Given the description of an element on the screen output the (x, y) to click on. 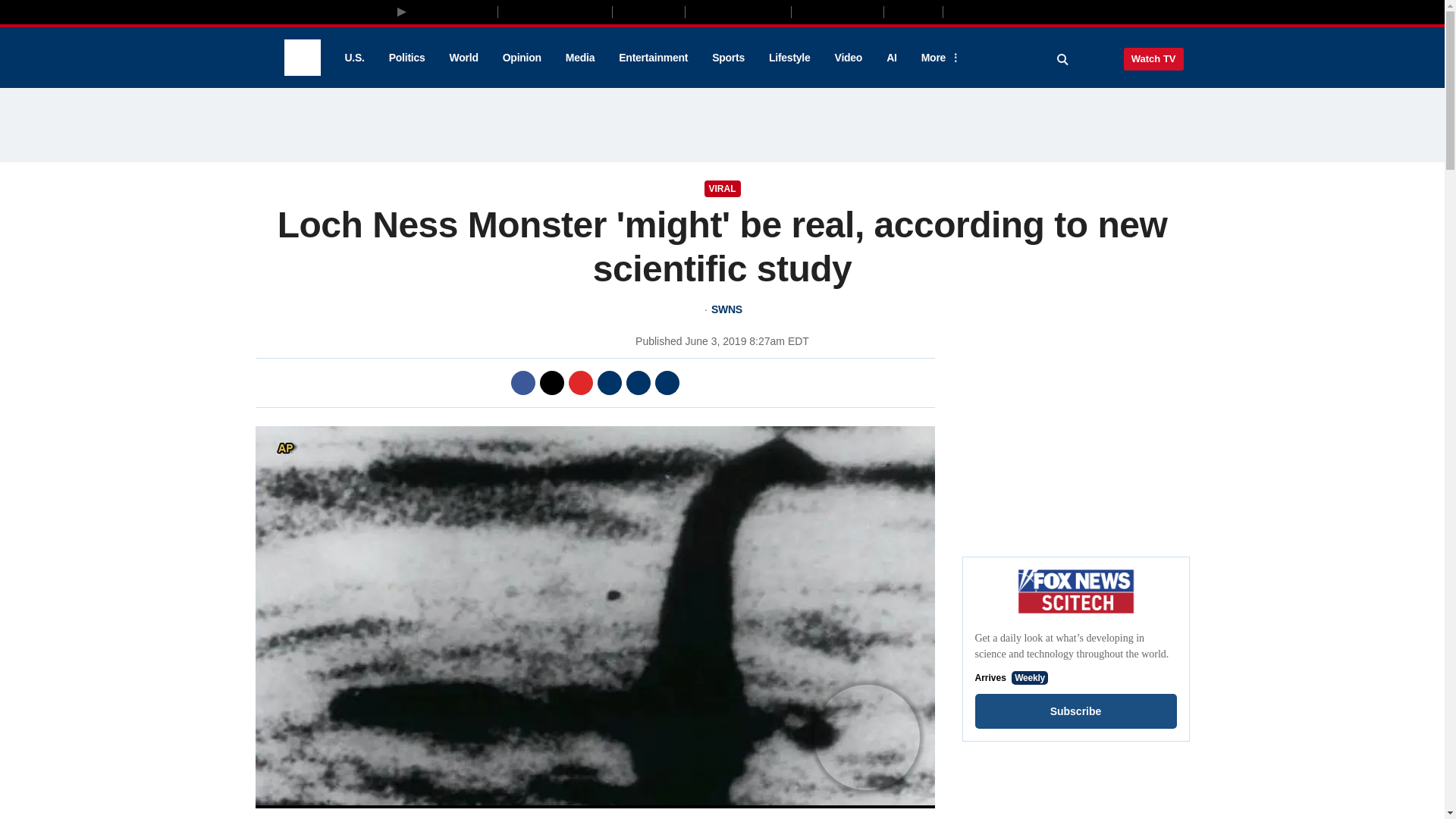
AI (891, 57)
Sports (728, 57)
Opinion (521, 57)
Fox News (301, 57)
Fox Business (554, 11)
Fox News Media (453, 11)
Entertainment (653, 57)
Fox Nation (648, 11)
Fox News Audio (737, 11)
More (938, 57)
